Given the description of an element on the screen output the (x, y) to click on. 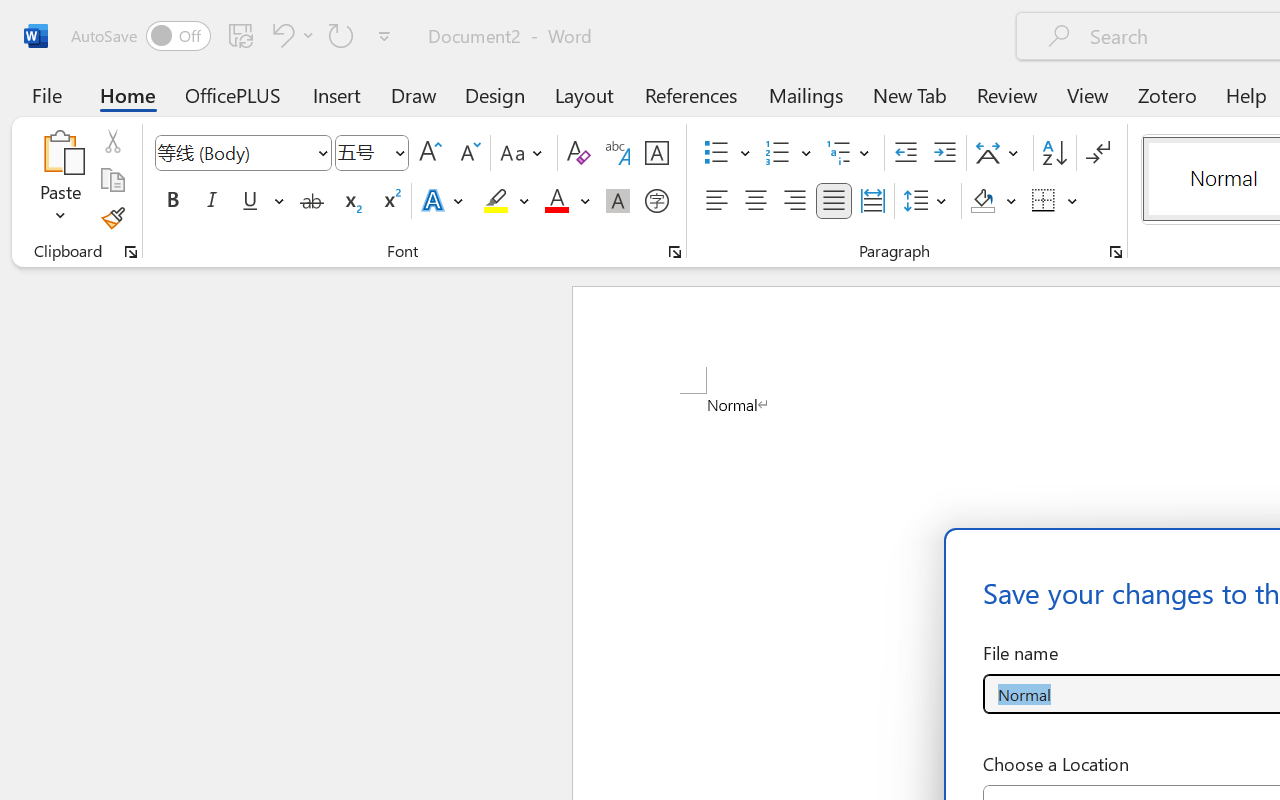
Change Case (524, 153)
Strikethrough (312, 201)
Increase Indent (944, 153)
Shading (993, 201)
Font... (675, 252)
Borders (1044, 201)
Asian Layout (1000, 153)
Multilevel List (850, 153)
Mailings (806, 94)
Home (127, 94)
View (1087, 94)
Text Effects and Typography (444, 201)
More Options (1073, 201)
Draw (413, 94)
